Given the description of an element on the screen output the (x, y) to click on. 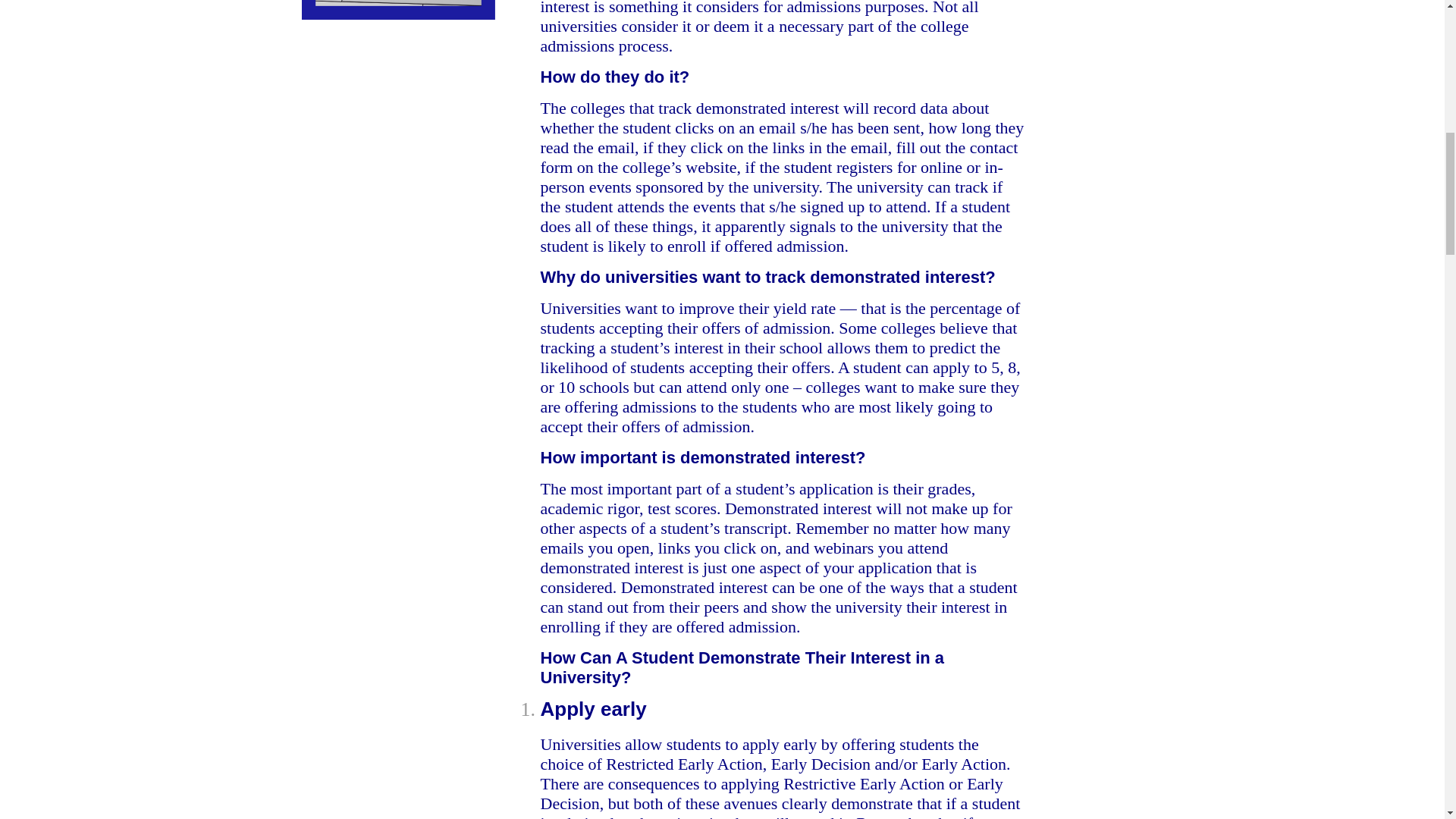
Demonstrated Interest (398, 9)
